Given the description of an element on the screen output the (x, y) to click on. 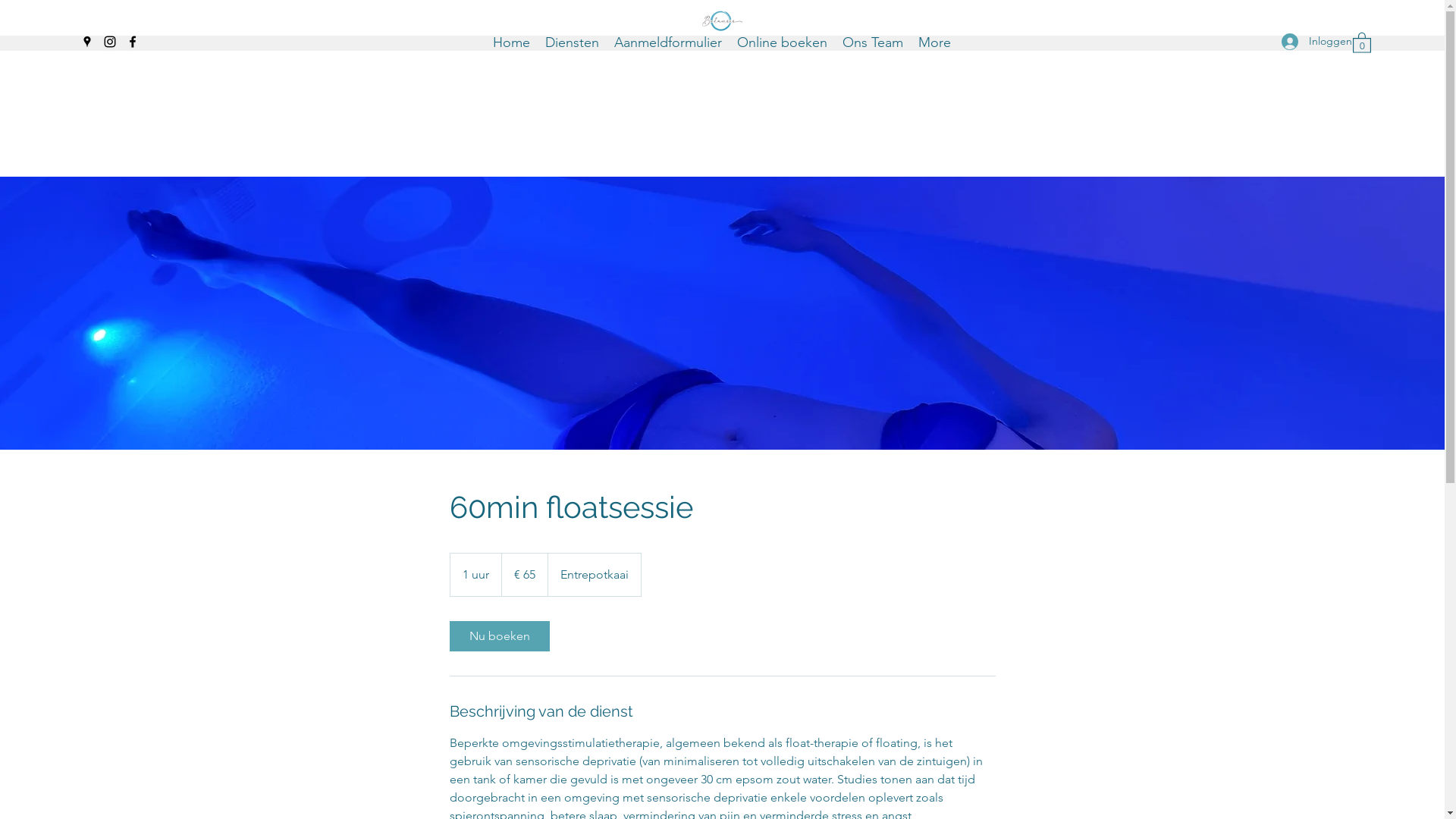
Home Element type: text (511, 41)
Nu boeken Element type: text (498, 636)
0 Element type: text (1361, 42)
Inloggen Element type: text (1304, 41)
Online boeken Element type: text (781, 41)
Ons Team Element type: text (872, 41)
Aanmeldformulier Element type: text (667, 41)
Diensten Element type: text (571, 41)
